Given the description of an element on the screen output the (x, y) to click on. 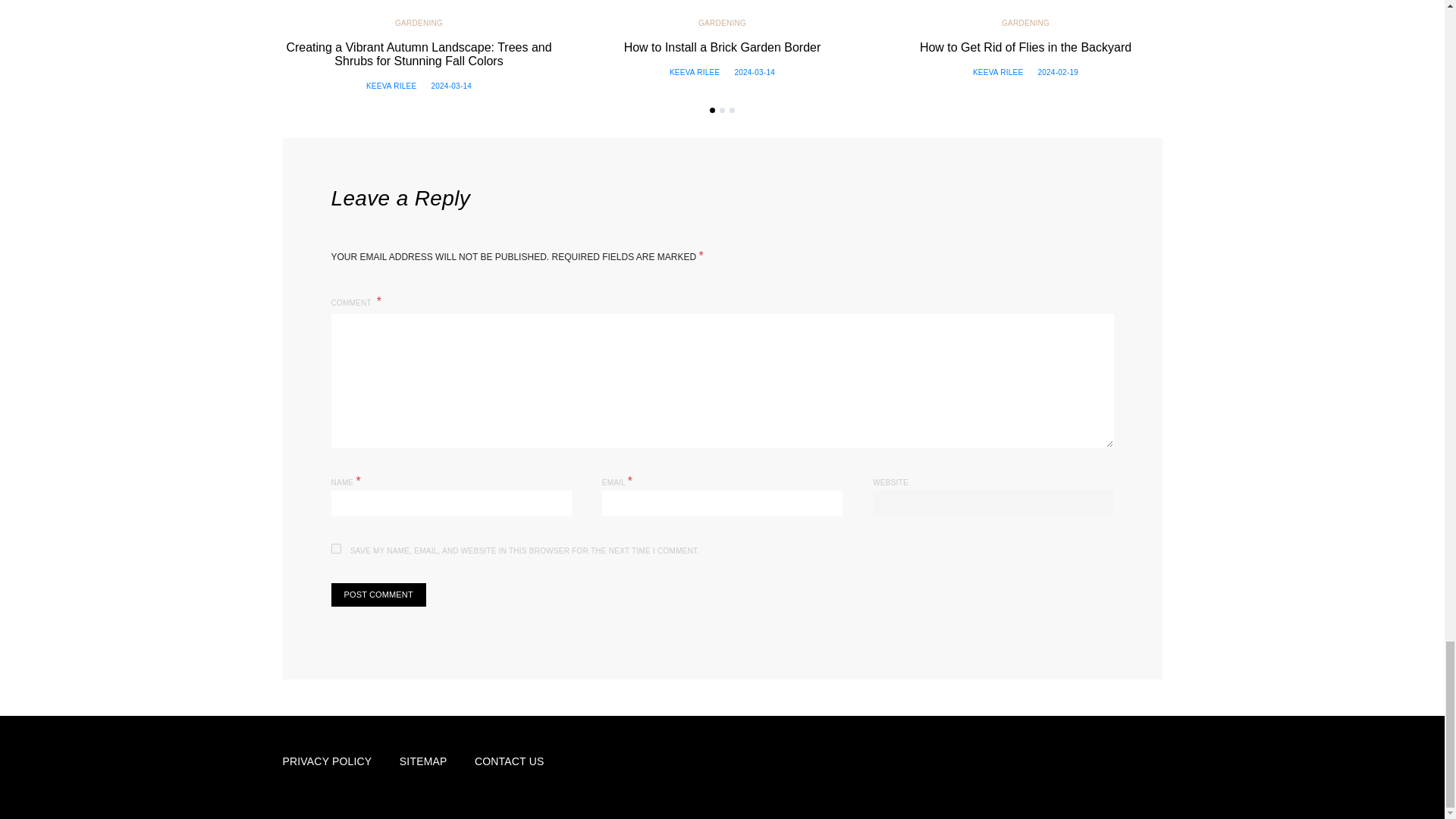
View all posts by Keeva Rilee (997, 71)
yes (335, 548)
View all posts by Keeva Rilee (391, 85)
View all posts by Keeva Rilee (694, 71)
Post Comment (377, 594)
